Given the description of an element on the screen output the (x, y) to click on. 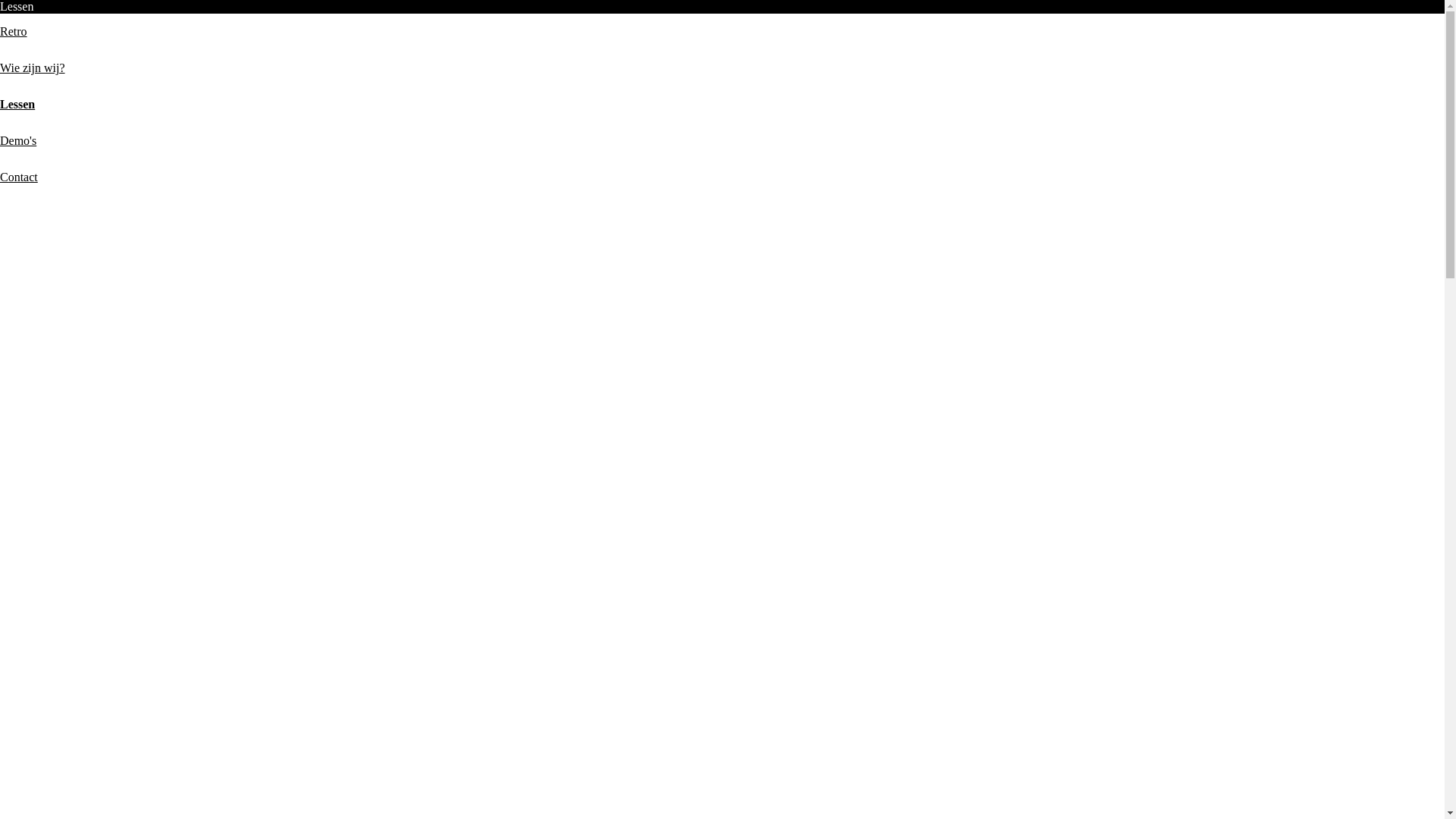
Lessen Element type: text (17, 103)
Contact Element type: text (18, 176)
Demo's Element type: text (18, 140)
Retro Element type: text (13, 31)
Wie zijn wij? Element type: text (32, 67)
